Given the description of an element on the screen output the (x, y) to click on. 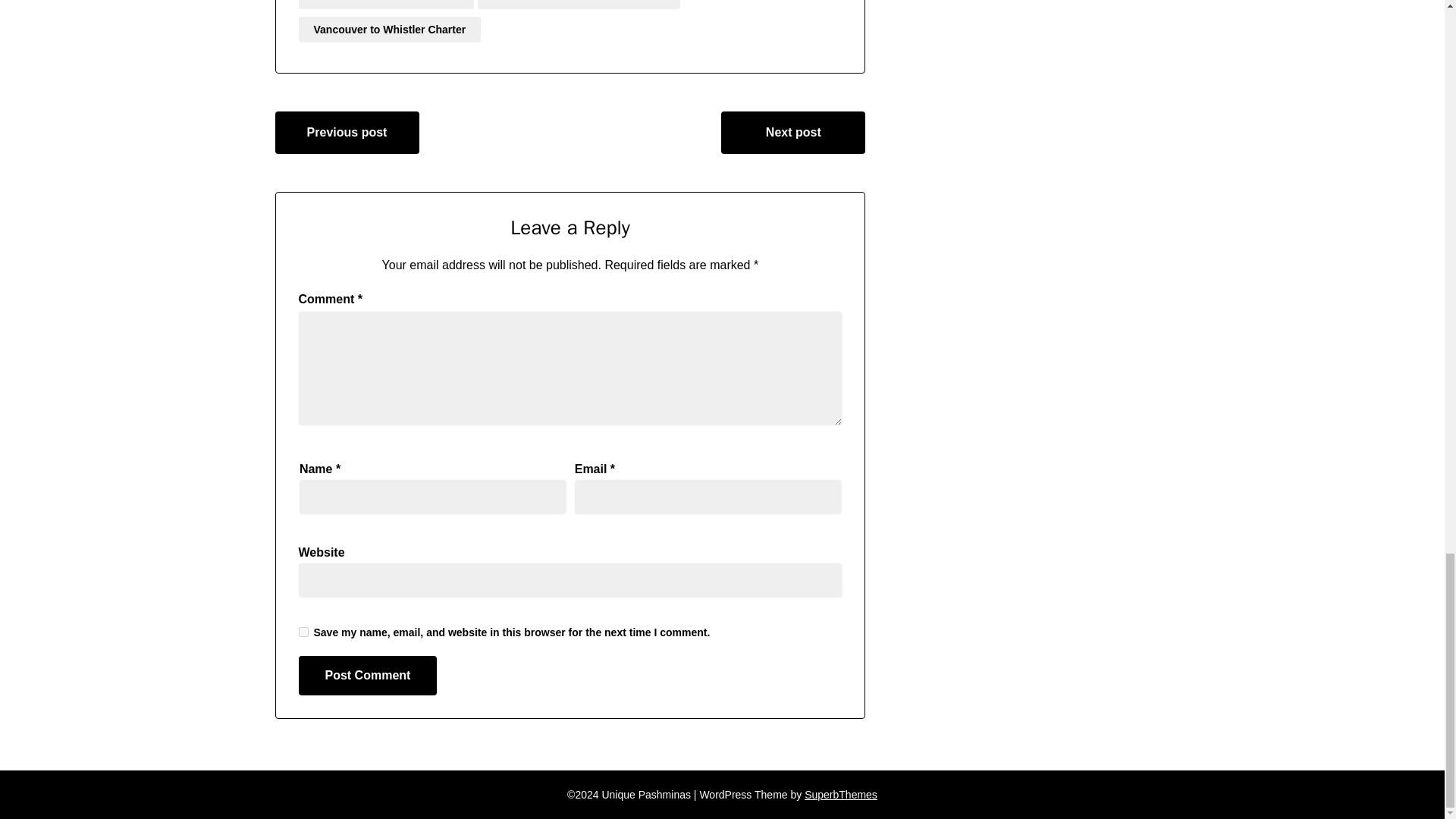
yes (303, 632)
Next post (792, 132)
Post Comment (368, 675)
Previous post (347, 132)
Vancouver to Seattle Charter (386, 4)
Vancouver to Victoria Bus Charter (578, 4)
Post Comment (368, 675)
Vancouver to Whistler Charter (389, 29)
